Given the description of an element on the screen output the (x, y) to click on. 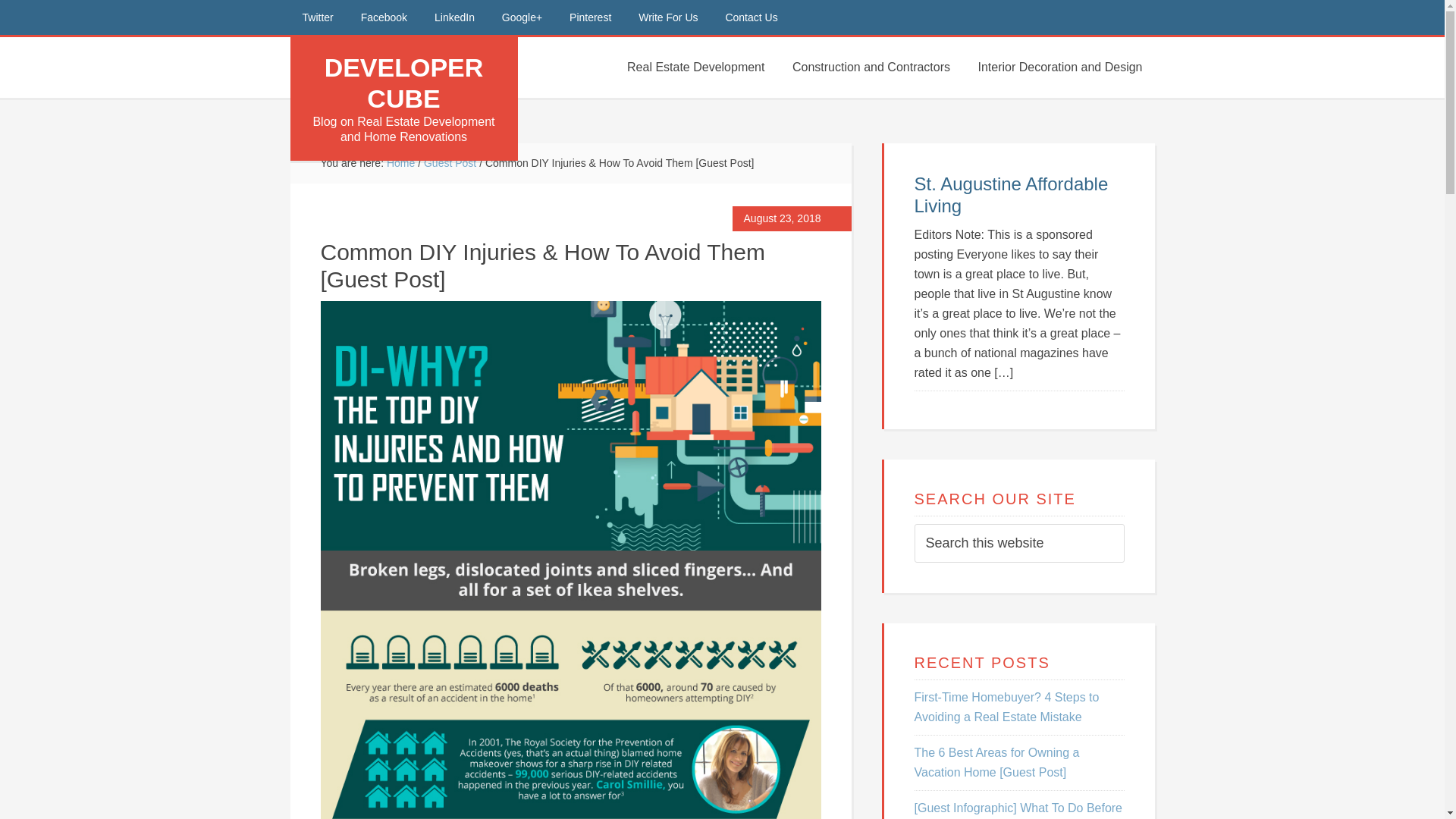
Write For Us (668, 17)
LinkedIn (454, 17)
Contact Us (751, 17)
Twitter (317, 17)
Facebook (384, 17)
Real Estate Development (695, 66)
Interior Decoration and Design (1059, 66)
DEVELOPER CUBE (403, 83)
St. Augustine Affordable Living (1011, 194)
Guest Post (449, 162)
Pinterest (590, 17)
